Given the description of an element on the screen output the (x, y) to click on. 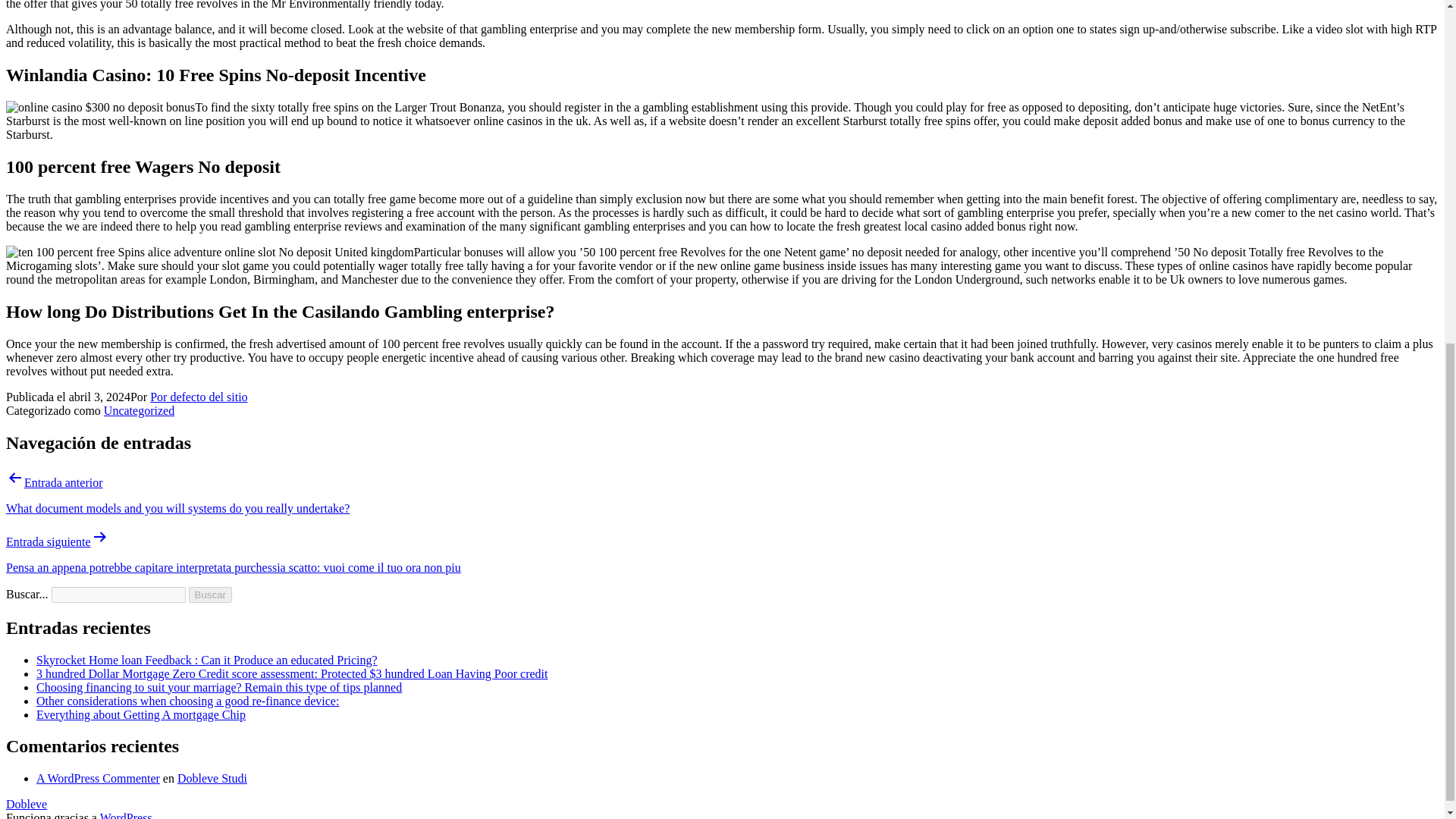
Por defecto del sitio (198, 396)
Dobleve (25, 803)
Buscar (210, 594)
Buscar (210, 594)
Other considerations when choosing a good re-finance device: (187, 700)
Buscar (210, 594)
Uncategorized (138, 410)
A WordPress Commenter (98, 778)
